Given the description of an element on the screen output the (x, y) to click on. 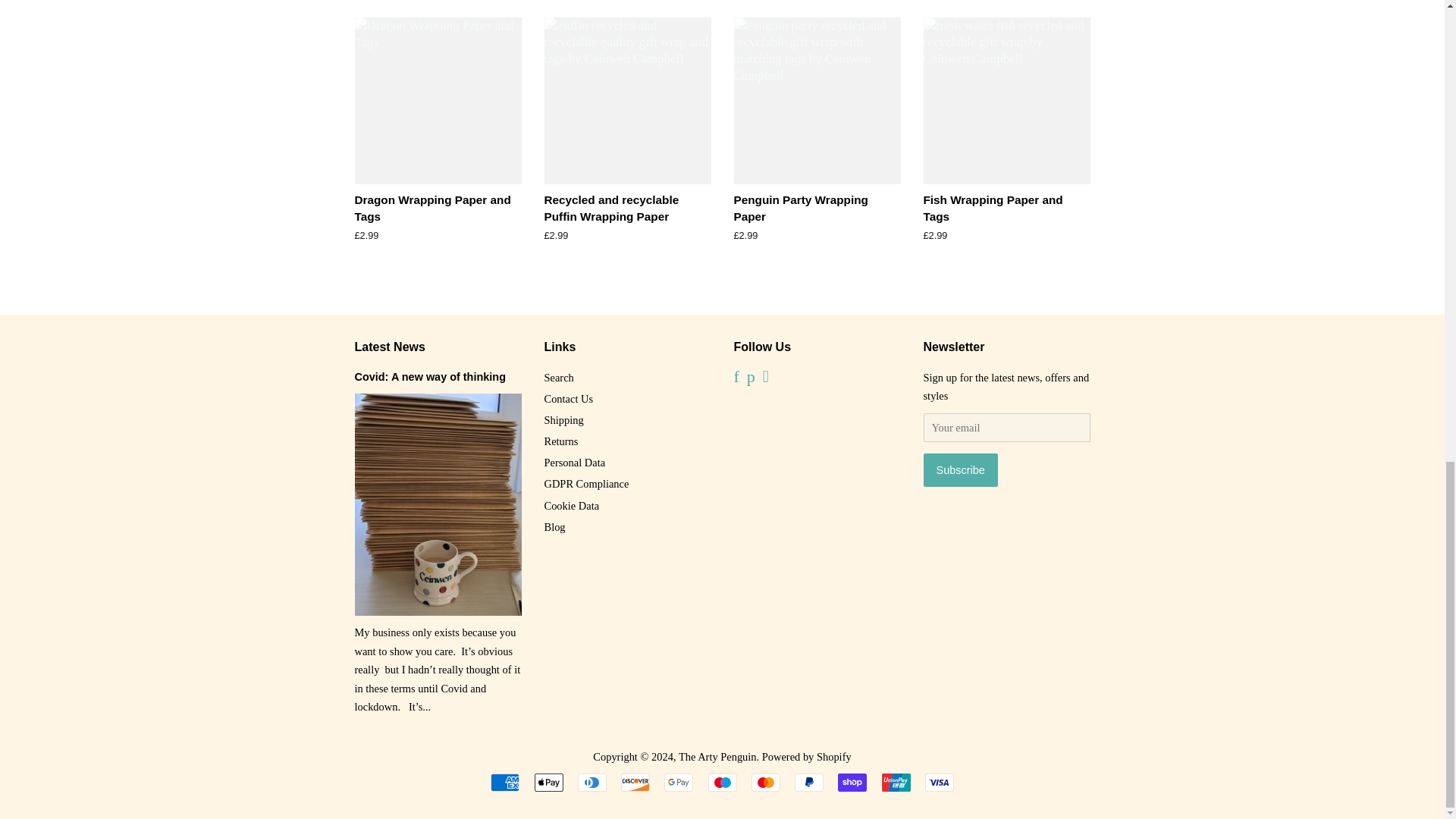
Mastercard (765, 782)
Subscribe (960, 469)
Google Pay (678, 782)
PayPal (809, 782)
Apple Pay (548, 782)
American Express (504, 782)
Union Pay (895, 782)
Maestro (721, 782)
Visa (938, 782)
Discover (635, 782)
